Given the description of an element on the screen output the (x, y) to click on. 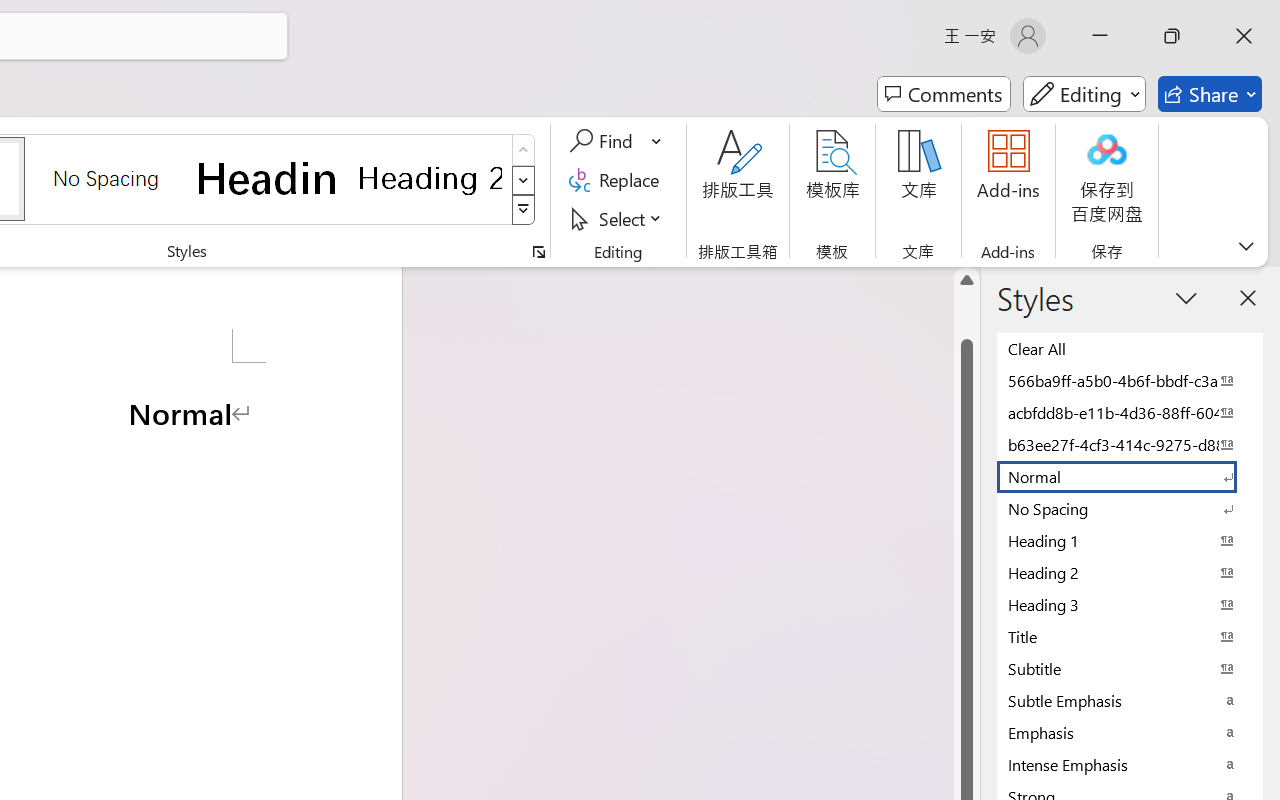
Subtle Emphasis (1130, 700)
Replace... (617, 179)
Heading 1 (267, 178)
Styles (523, 209)
